Given the description of an element on the screen output the (x, y) to click on. 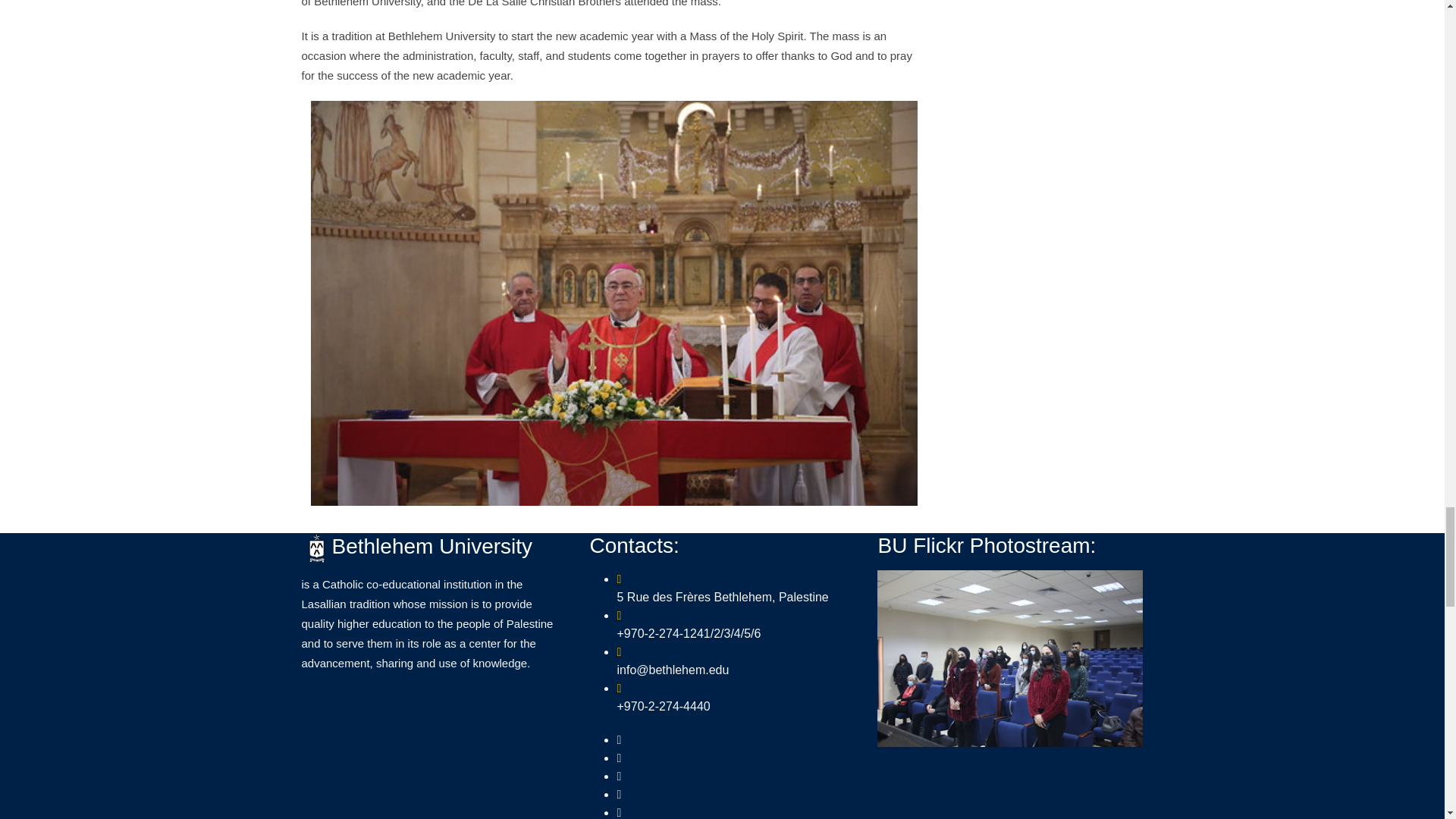
Mass of the Holy Spirit by Bethlehem University, on Flickr (614, 301)
